Given the description of an element on the screen output the (x, y) to click on. 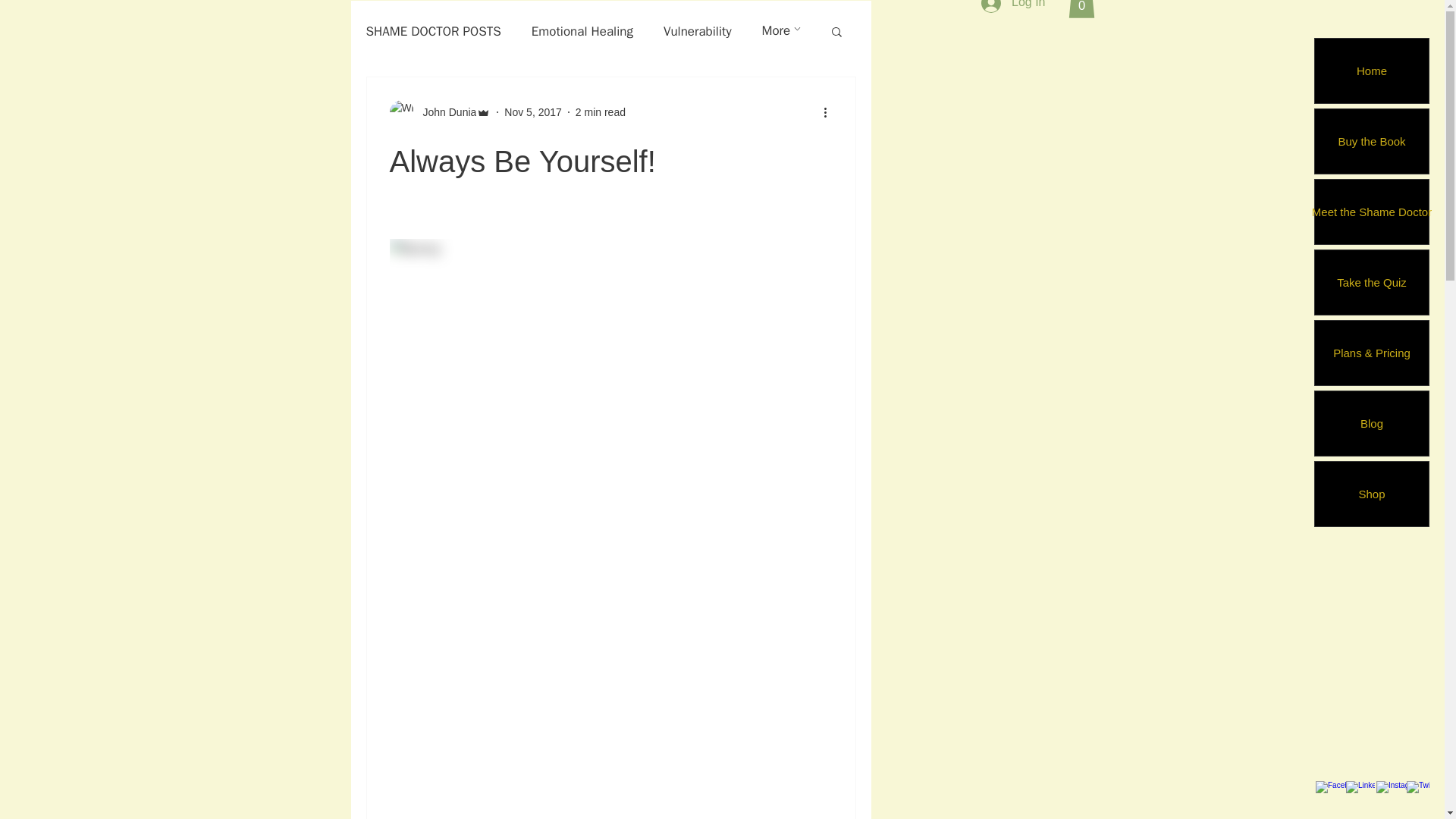
Buy the Book (1371, 140)
John Dunia (441, 111)
Log In (1013, 8)
Take the Quiz (1371, 282)
Vulnerability (697, 31)
Nov 5, 2017 (532, 111)
Blog (1371, 423)
John Dunia (445, 112)
Emotional Healing (582, 31)
SHAME DOCTOR POSTS (432, 31)
